Given the description of an element on the screen output the (x, y) to click on. 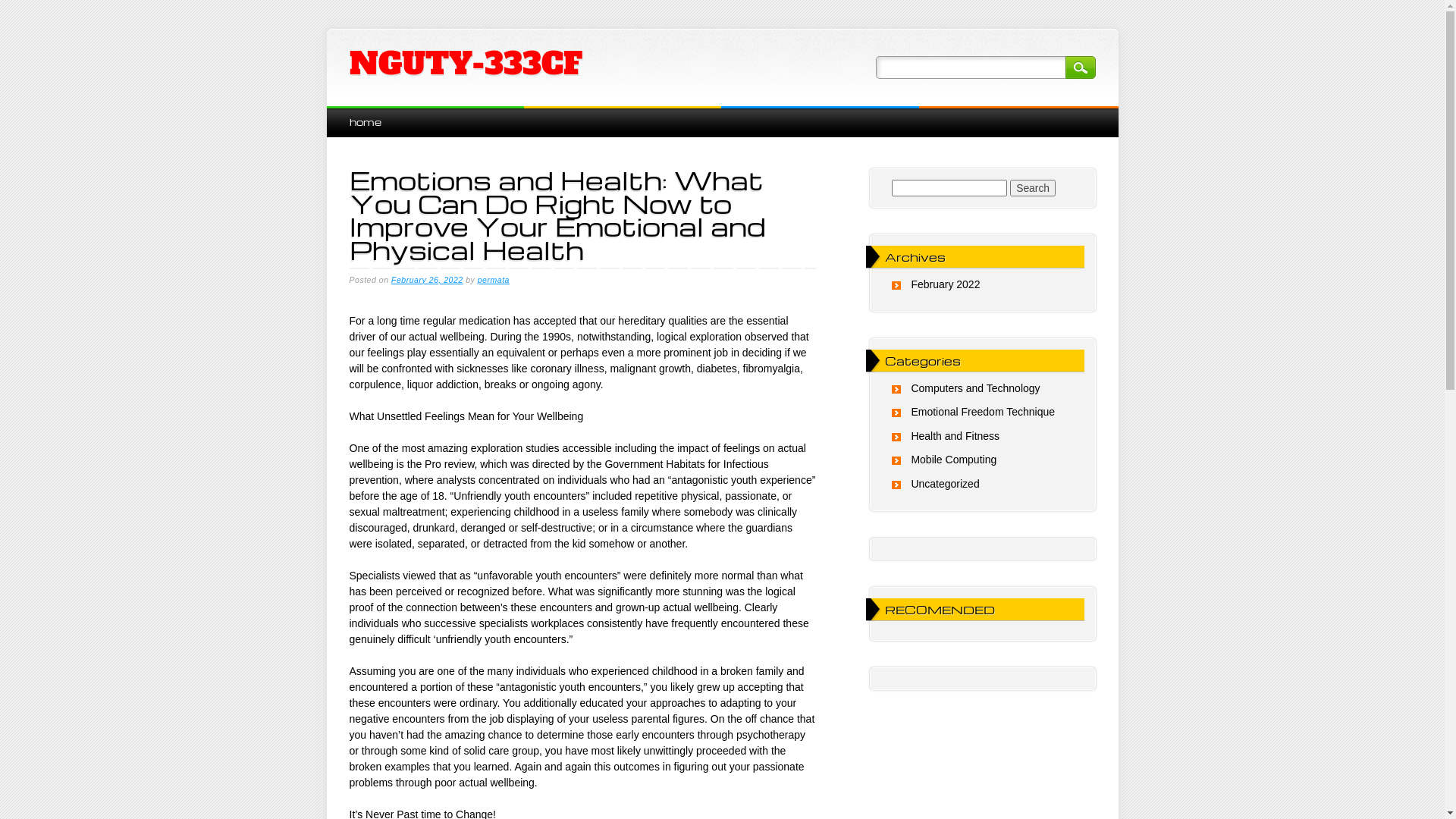
Skip to content Element type: text (361, 113)
February 26, 2022 Element type: text (427, 279)
permata Element type: text (493, 279)
Search Element type: text (1032, 187)
Computers and Technology Element type: text (974, 388)
Search Element type: text (1079, 67)
February 2022 Element type: text (944, 284)
NGUTY-333CF Element type: text (464, 63)
Mobile Computing Element type: text (953, 459)
Uncategorized Element type: text (944, 483)
Health and Fitness Element type: text (954, 435)
Emotional Freedom Technique Element type: text (982, 411)
home Element type: text (364, 121)
